Given the description of an element on the screen output the (x, y) to click on. 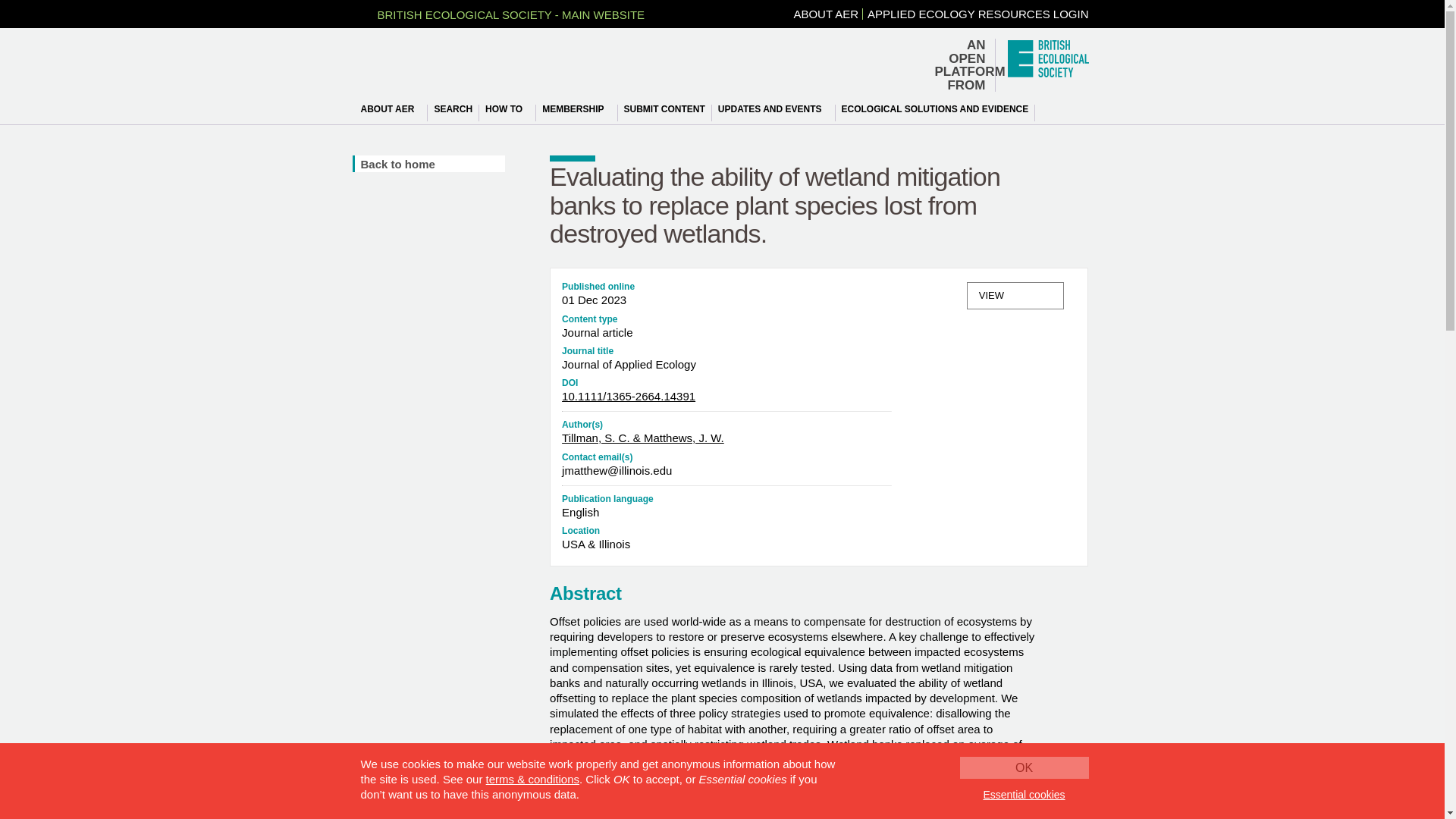
Back to home (430, 163)
HOW TO (507, 108)
BRITISH ECOLOGICAL SOCIETY - MAIN WEBSITE (503, 13)
UPDATES AND EVENTS (774, 108)
ABOUT AER (392, 108)
ECOLOGICAL SOLUTIONS AND EVIDENCE (935, 108)
VIEW (1015, 295)
APPLIED ECOLOGY RESOURCES LOGIN (977, 13)
ABOUT AER (826, 13)
MEMBERSHIP (576, 108)
